Given the description of an element on the screen output the (x, y) to click on. 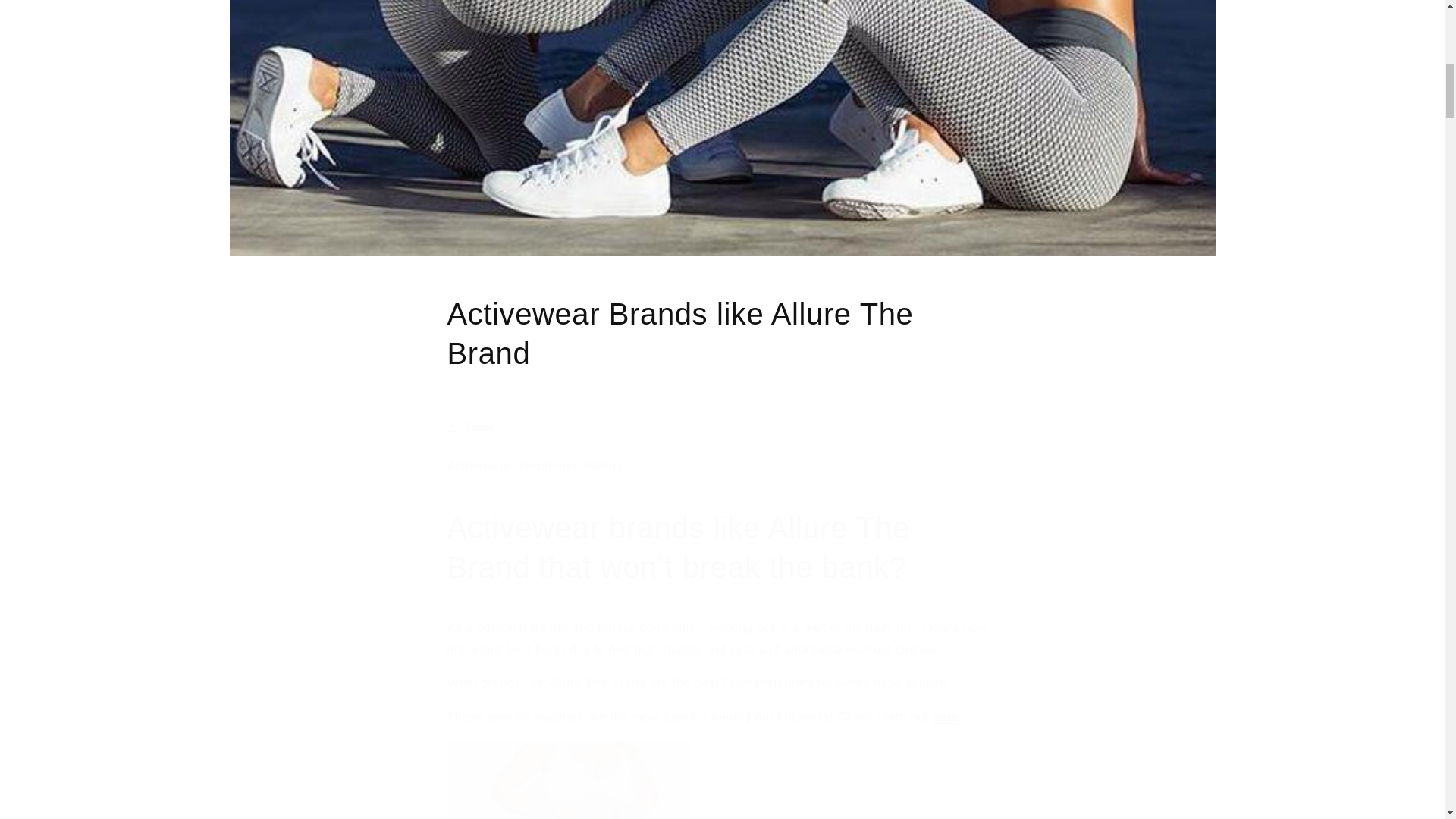
Share (721, 427)
Activewear Brands like Allure The Brand (721, 333)
